Given the description of an element on the screen output the (x, y) to click on. 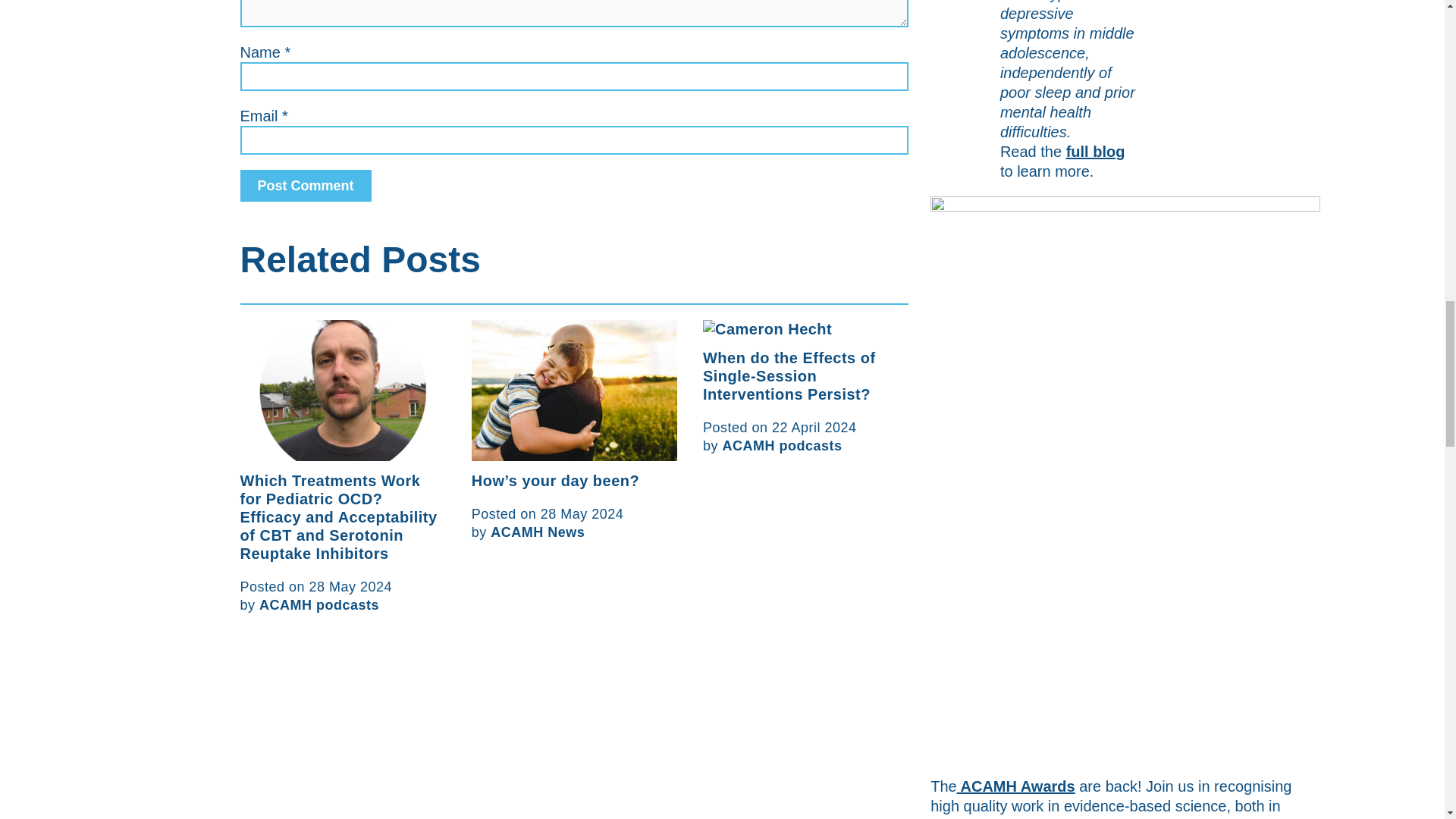
Posts by ACAMH podcasts (781, 445)
Posts by ACAMH News (537, 531)
Posts by ACAMH podcasts (318, 604)
Post Comment (305, 185)
